Given the description of an element on the screen output the (x, y) to click on. 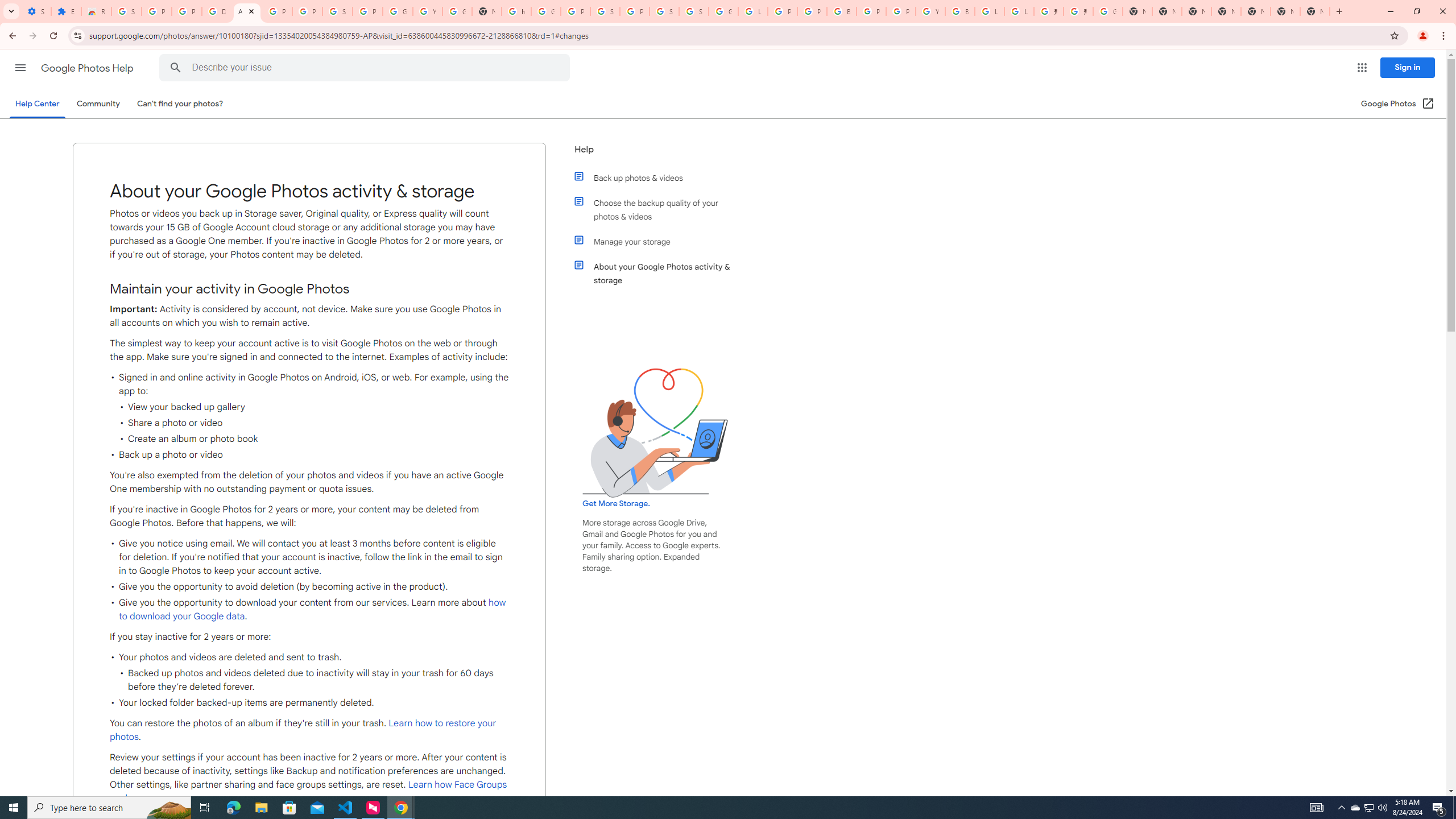
Google Photos (Open in a new window) (1397, 103)
